Given the description of an element on the screen output the (x, y) to click on. 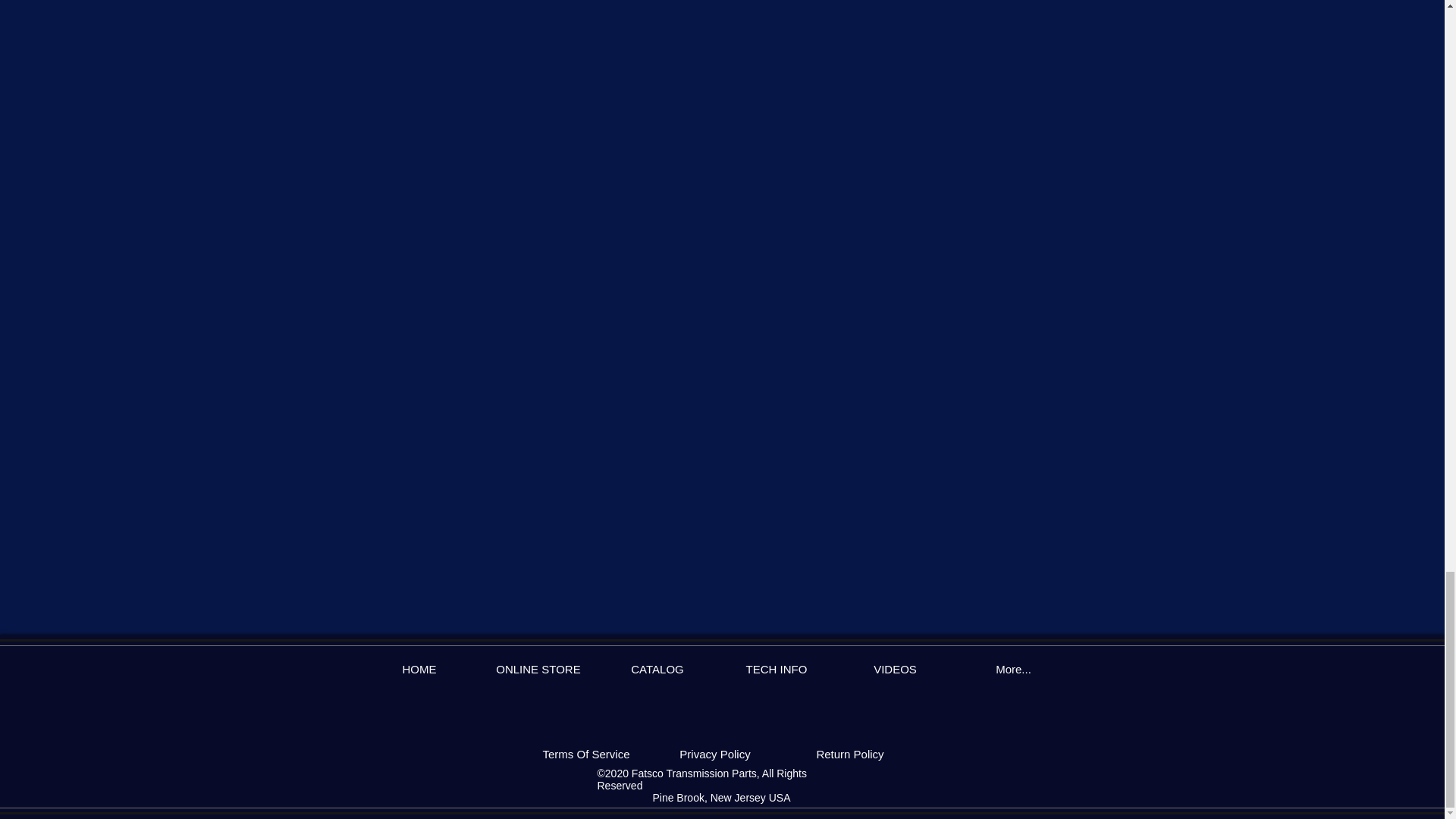
CATALOG (656, 669)
Terms Of Service (586, 753)
HOME (419, 669)
VIDEOS (894, 669)
TECH INFO (776, 669)
ONLINE STORE (538, 669)
Return Policy (850, 753)
Privacy Policy (715, 753)
